Given the description of an element on the screen output the (x, y) to click on. 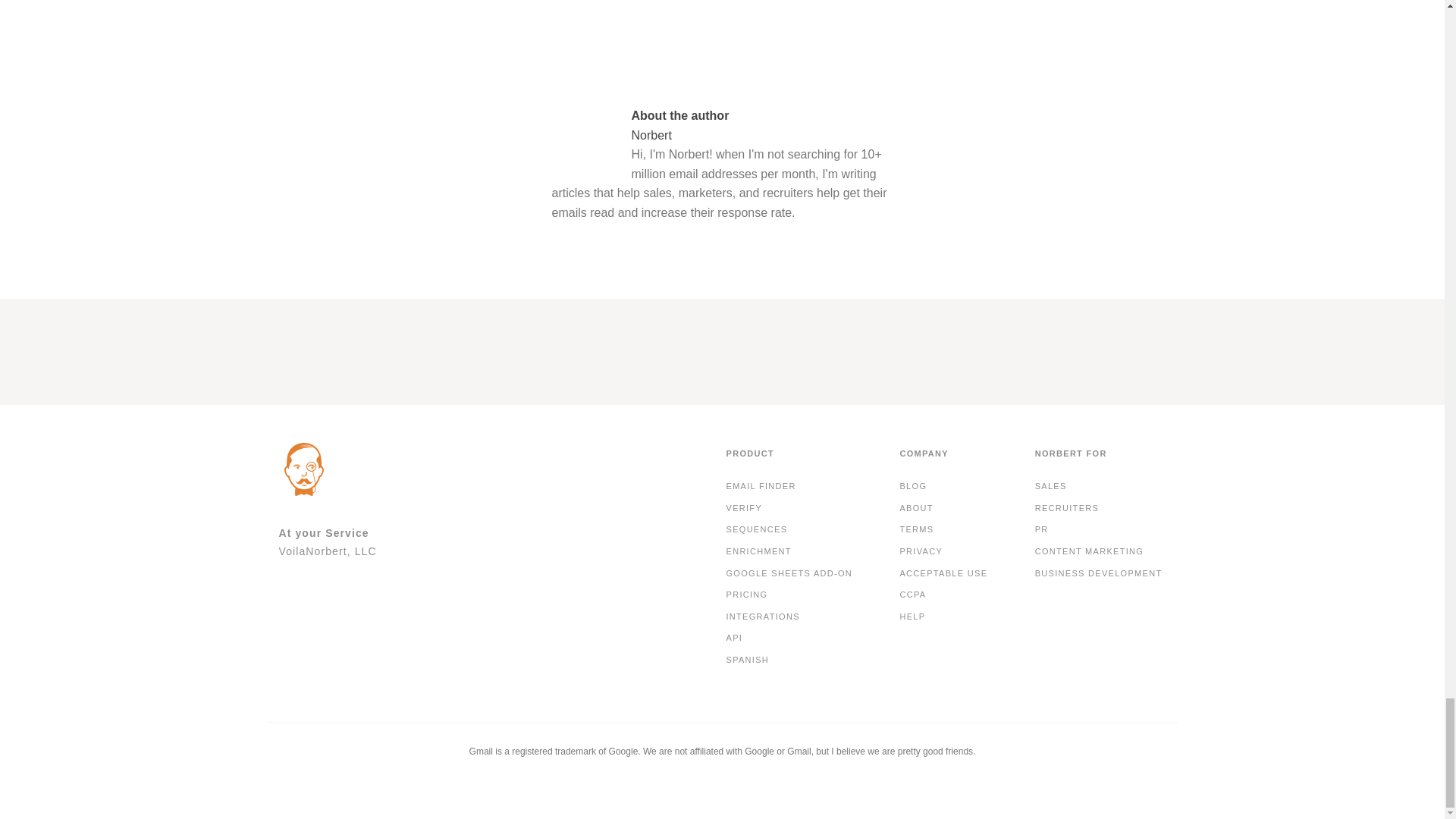
PRICING (746, 595)
SEQUENCES (756, 529)
VERIFY (743, 508)
EMAIL FINDER (760, 486)
ENRICHMENT (758, 551)
GOOGLE SHEETS ADD-ON (789, 573)
